Given the description of an element on the screen output the (x, y) to click on. 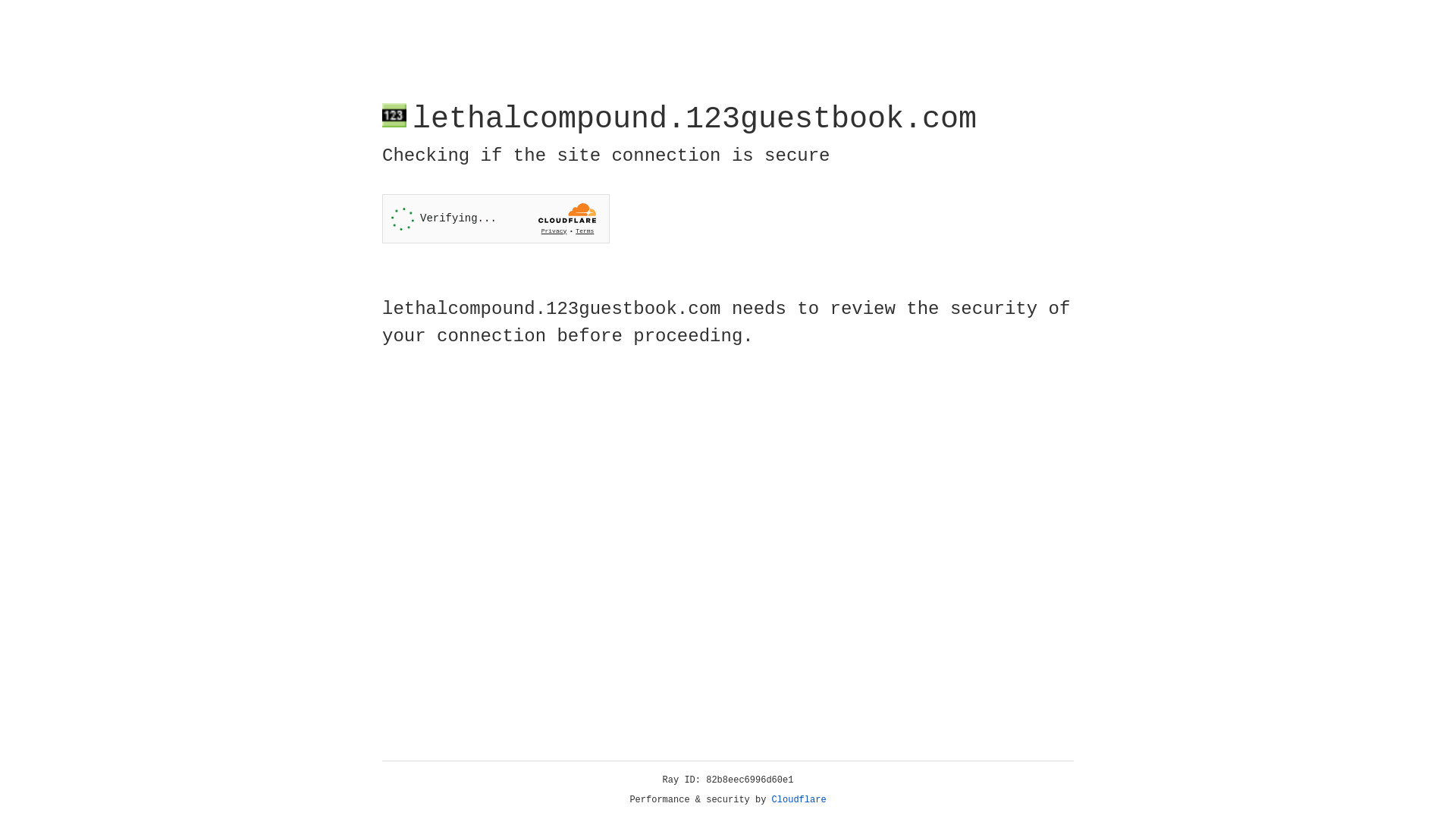
Cloudflare Element type: text (798, 799)
Widget containing a Cloudflare security challenge Element type: hover (495, 218)
